Given the description of an element on the screen output the (x, y) to click on. 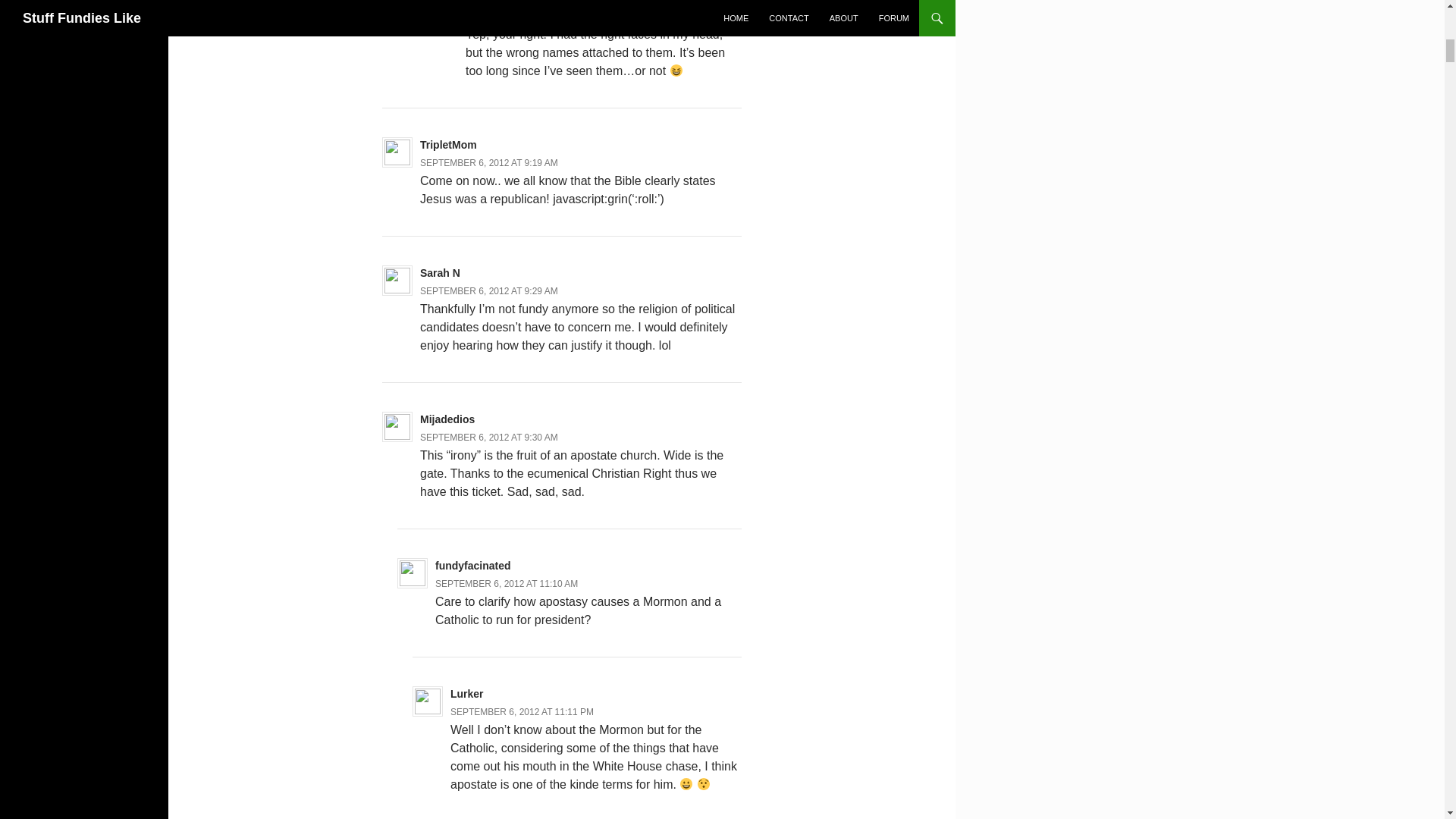
SEPTEMBER 6, 2012 AT 9:19 AM (488, 163)
SEPTEMBER 8, 2012 AT 7:45 AM (534, 16)
SEPTEMBER 6, 2012 AT 11:10 AM (506, 583)
SEPTEMBER 6, 2012 AT 9:30 AM (488, 437)
SEPTEMBER 6, 2012 AT 11:11 PM (521, 711)
SEPTEMBER 6, 2012 AT 9:29 AM (488, 290)
Sarah N (440, 272)
